Given the description of an element on the screen output the (x, y) to click on. 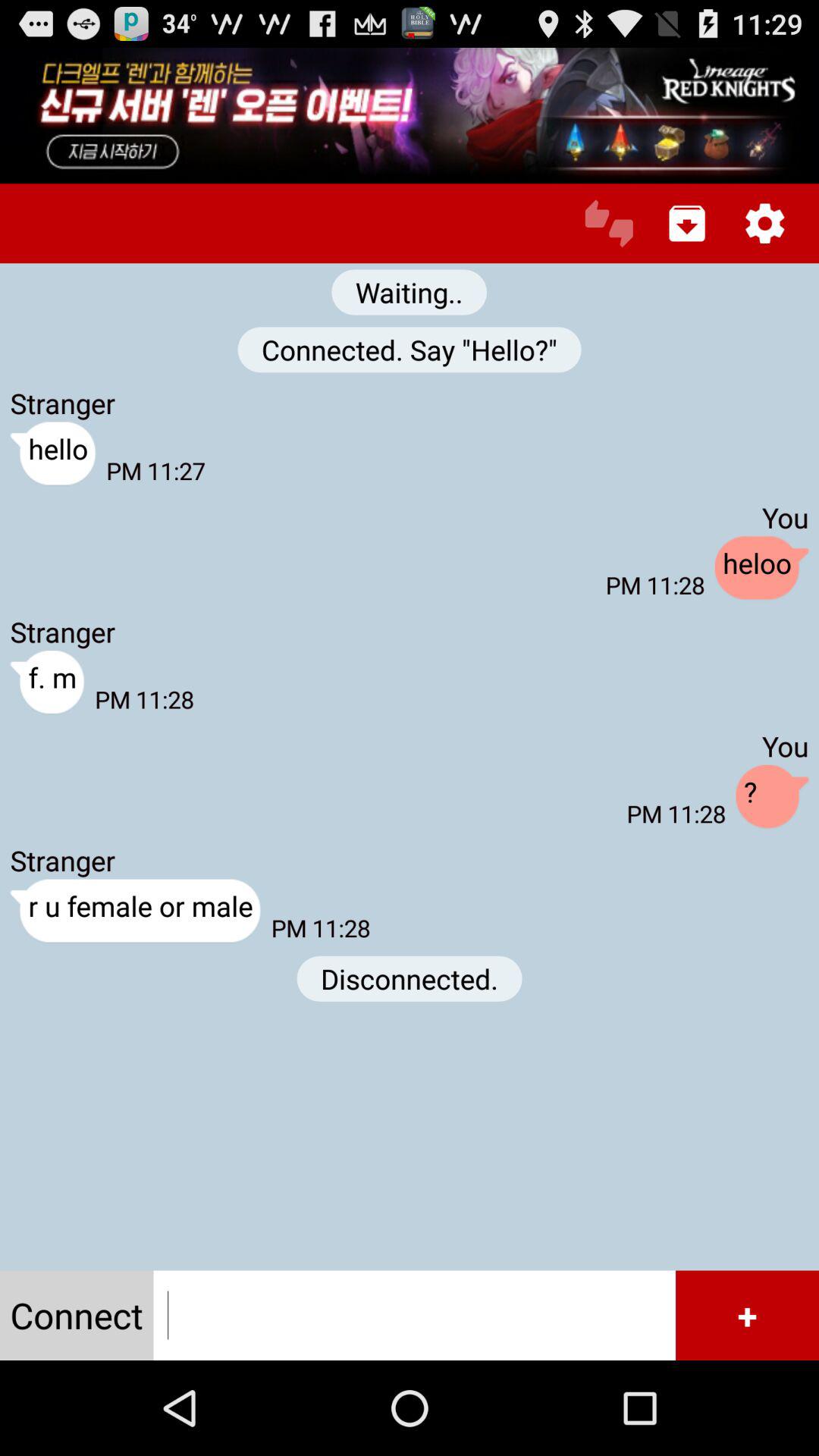
download conversation (686, 223)
